Given the description of an element on the screen output the (x, y) to click on. 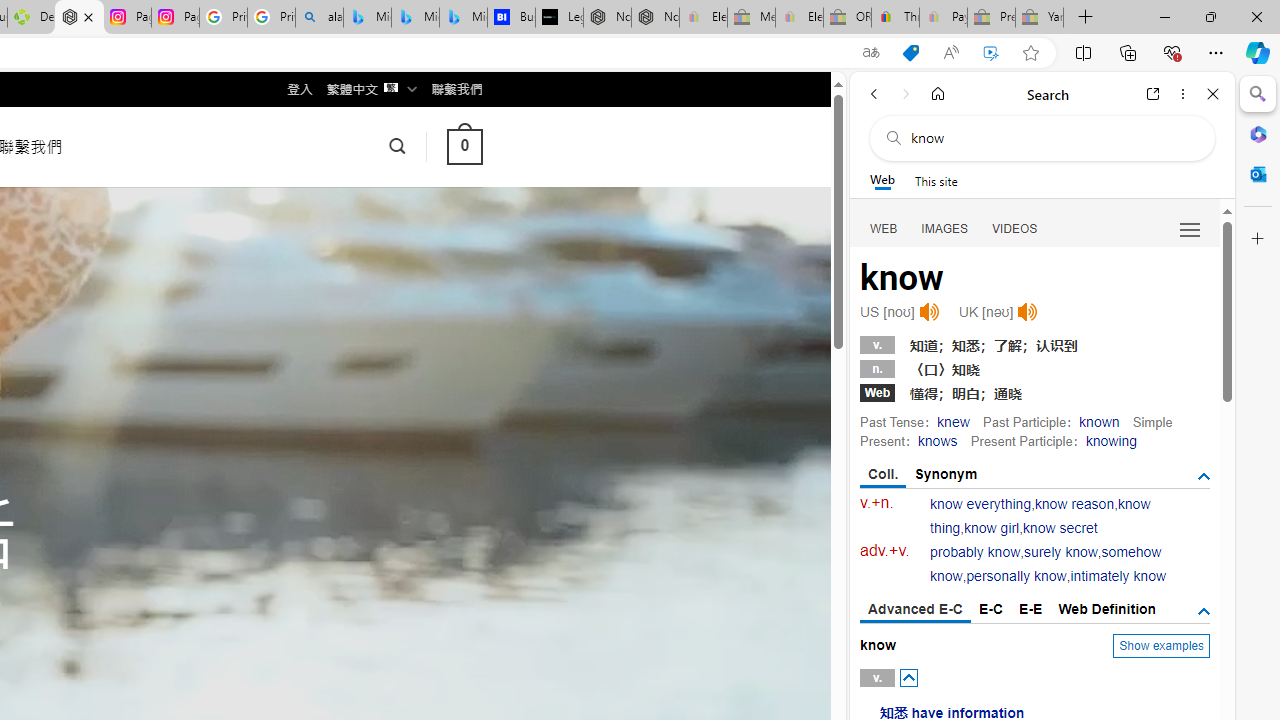
Advanced E-C (915, 610)
somehow know (1046, 564)
 0  (464, 146)
know girl (991, 528)
Enhance video (991, 53)
Payments Terms of Use | eBay.com - Sleeping (943, 17)
AutomationID: tgsb (1203, 476)
  0   (464, 146)
probably know (975, 552)
know secret (1059, 528)
Search Filter, VIDEOS (1015, 228)
